Given the description of an element on the screen output the (x, y) to click on. 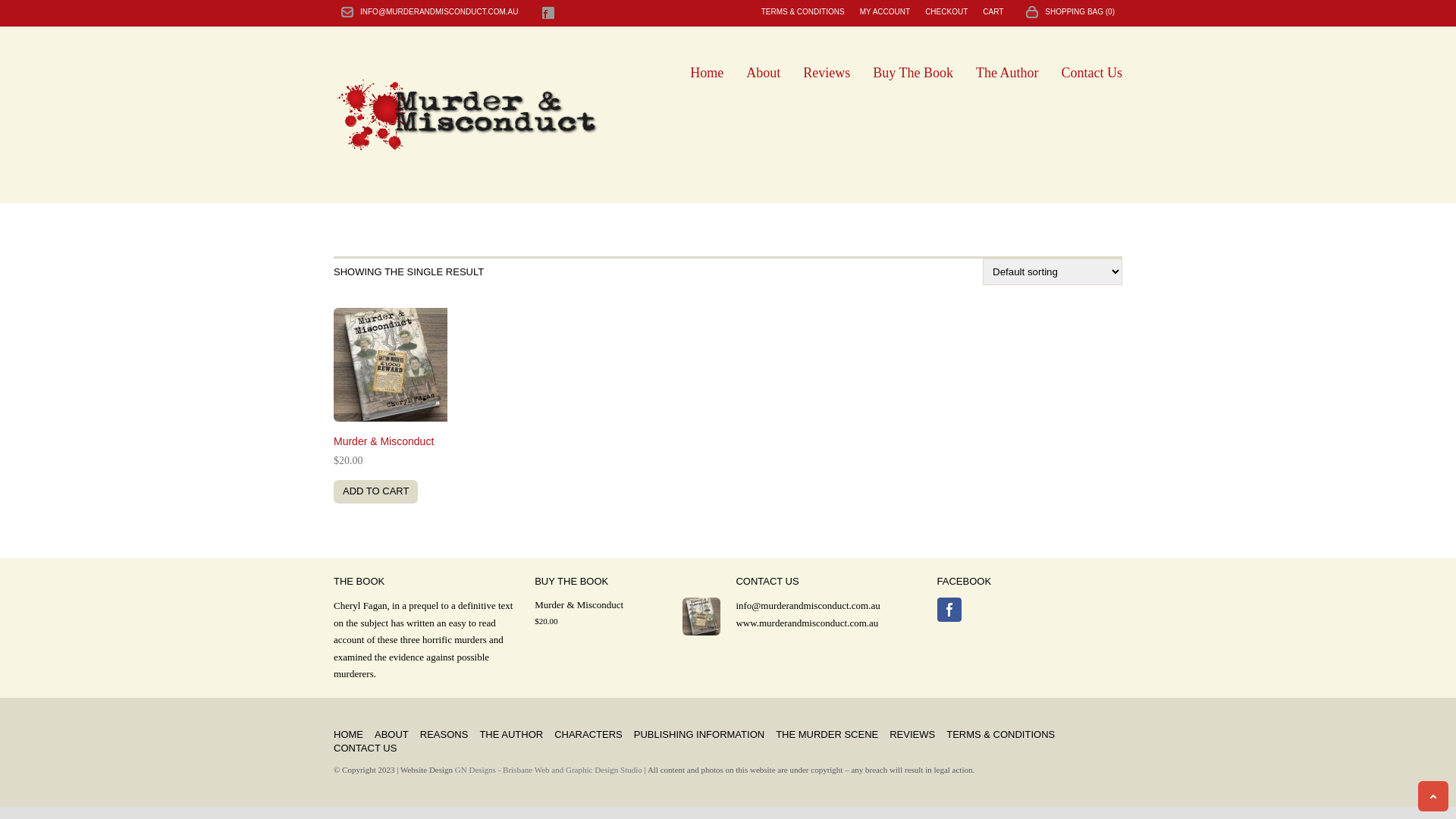
FACEBOOK Element type: text (547, 12)
Contact Us Element type: text (1092, 72)
TERMS & CONDITIONS Element type: text (1000, 734)
The Author Element type: text (1006, 72)
CHARACTERS Element type: text (588, 734)
www.murderandmisconduct.com.au Element type: text (806, 622)
THE AUTHOR Element type: text (510, 734)
GN Designs - Brisbane Web and Graphic Design Studio Element type: text (548, 769)
REVIEWS Element type: text (912, 734)
THE MURDER SCENE Element type: text (826, 734)
CONTACT US Element type: text (364, 748)
SHOPPING BAG (0) Element type: text (1066, 12)
Murder & Misconduct Element type: text (626, 604)
REASONS Element type: text (444, 734)
info@murderandmisconduct.com.au Element type: text (807, 605)
Buy The Book Element type: text (912, 72)
Home Element type: text (706, 72)
CHECKOUT Element type: text (946, 12)
TERMS & CONDITIONS Element type: text (802, 12)
Facebook Element type: hover (949, 609)
ADD TO CART Element type: text (375, 491)
About Element type: text (763, 72)
INFO@MURDERANDMISCONDUCT.COM.AU Element type: text (438, 11)
HOME Element type: text (348, 734)
MY ACCOUNT Element type: text (884, 12)
Murder & Misconduct
$20.00 Element type: text (459, 401)
PUBLISHING INFORMATION Element type: text (698, 734)
ABOUT Element type: text (391, 734)
CART Element type: text (992, 12)
Reviews Element type: text (826, 72)
